Given the description of an element on the screen output the (x, y) to click on. 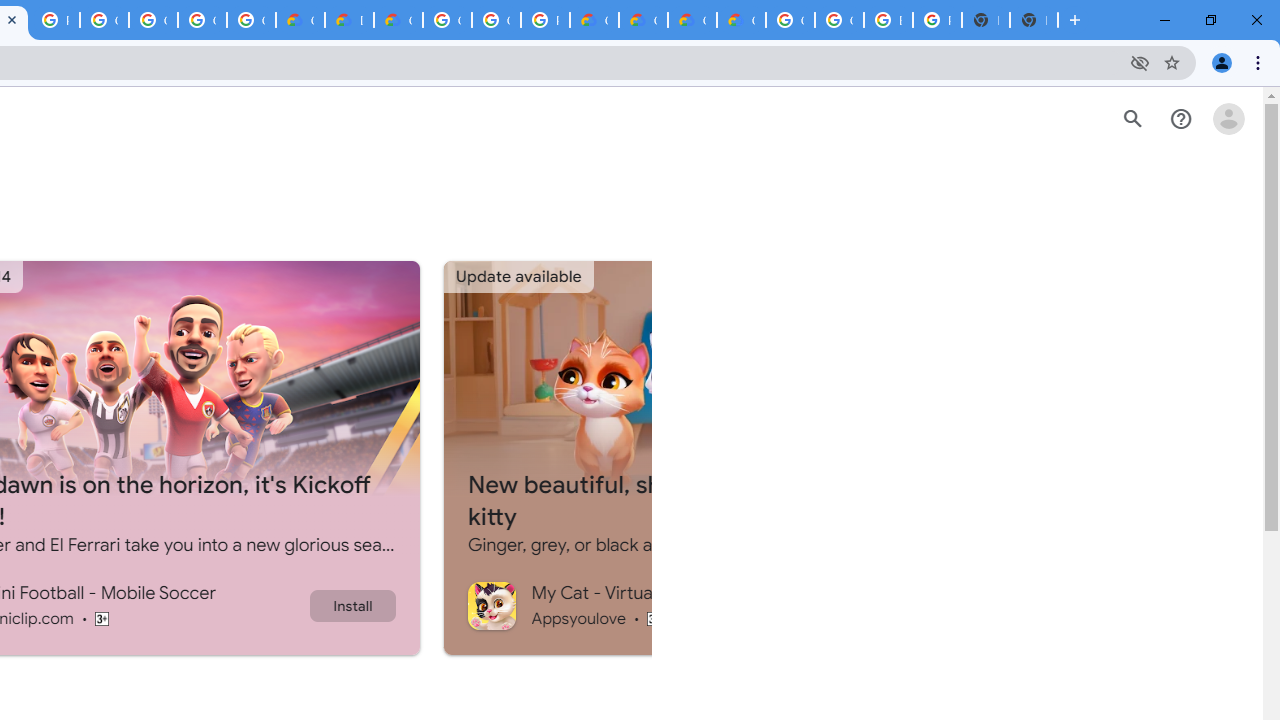
Google Cloud Platform (447, 20)
Google Workspace - Specific Terms (251, 20)
Google Cloud Platform (496, 20)
Install (351, 605)
Google Cloud Pricing Calculator (692, 20)
